Given the description of an element on the screen output the (x, y) to click on. 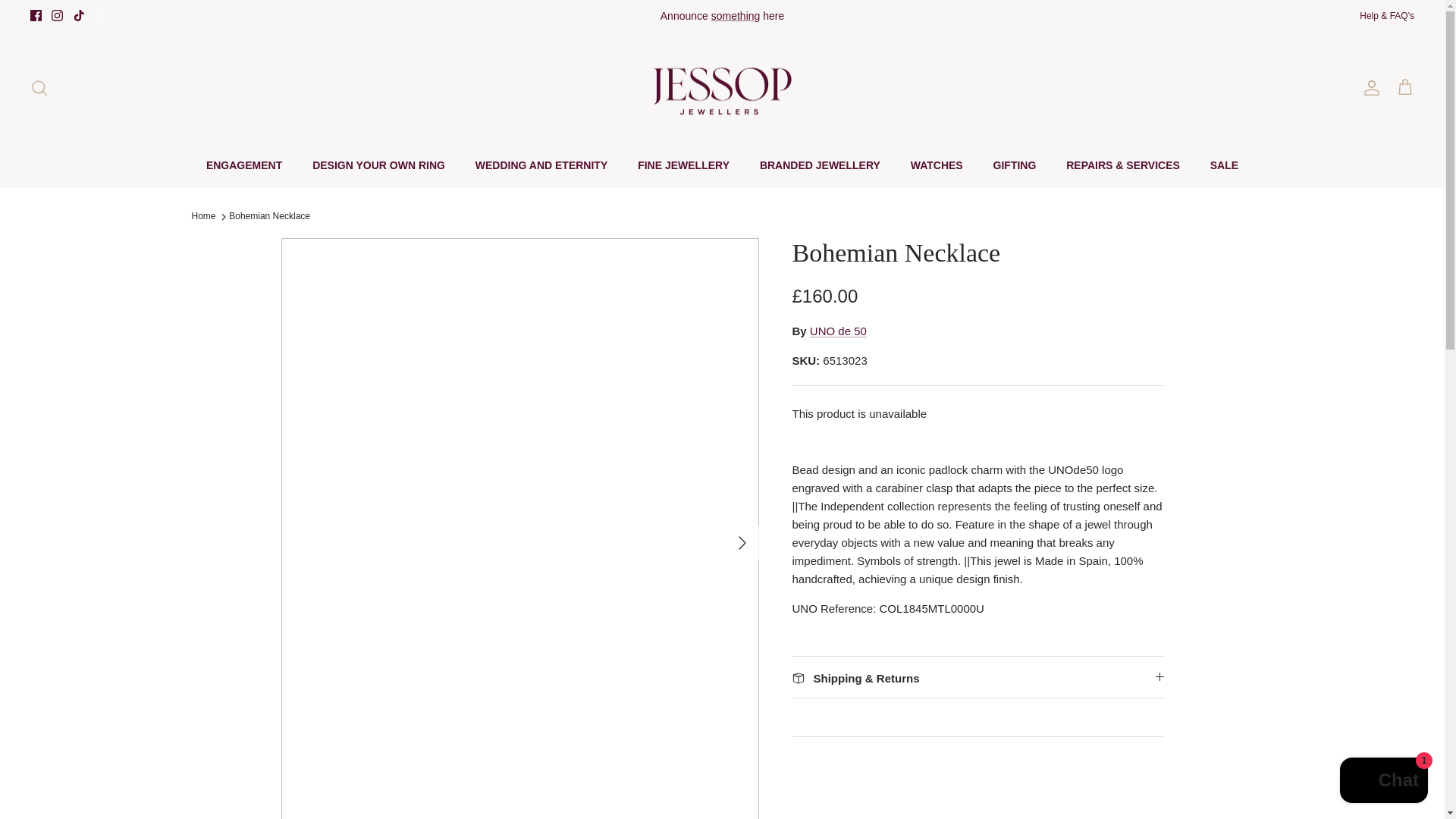
Jessop Jewellers (721, 87)
Shopify online store chat (1383, 781)
Cart (1404, 87)
RIGHT (741, 542)
Facebook (36, 15)
Instagram (56, 15)
Search (39, 87)
something (735, 15)
Facebook (36, 15)
Instagram (56, 15)
Account (1368, 87)
ENGAGEMENT (243, 165)
